Given the description of an element on the screen output the (x, y) to click on. 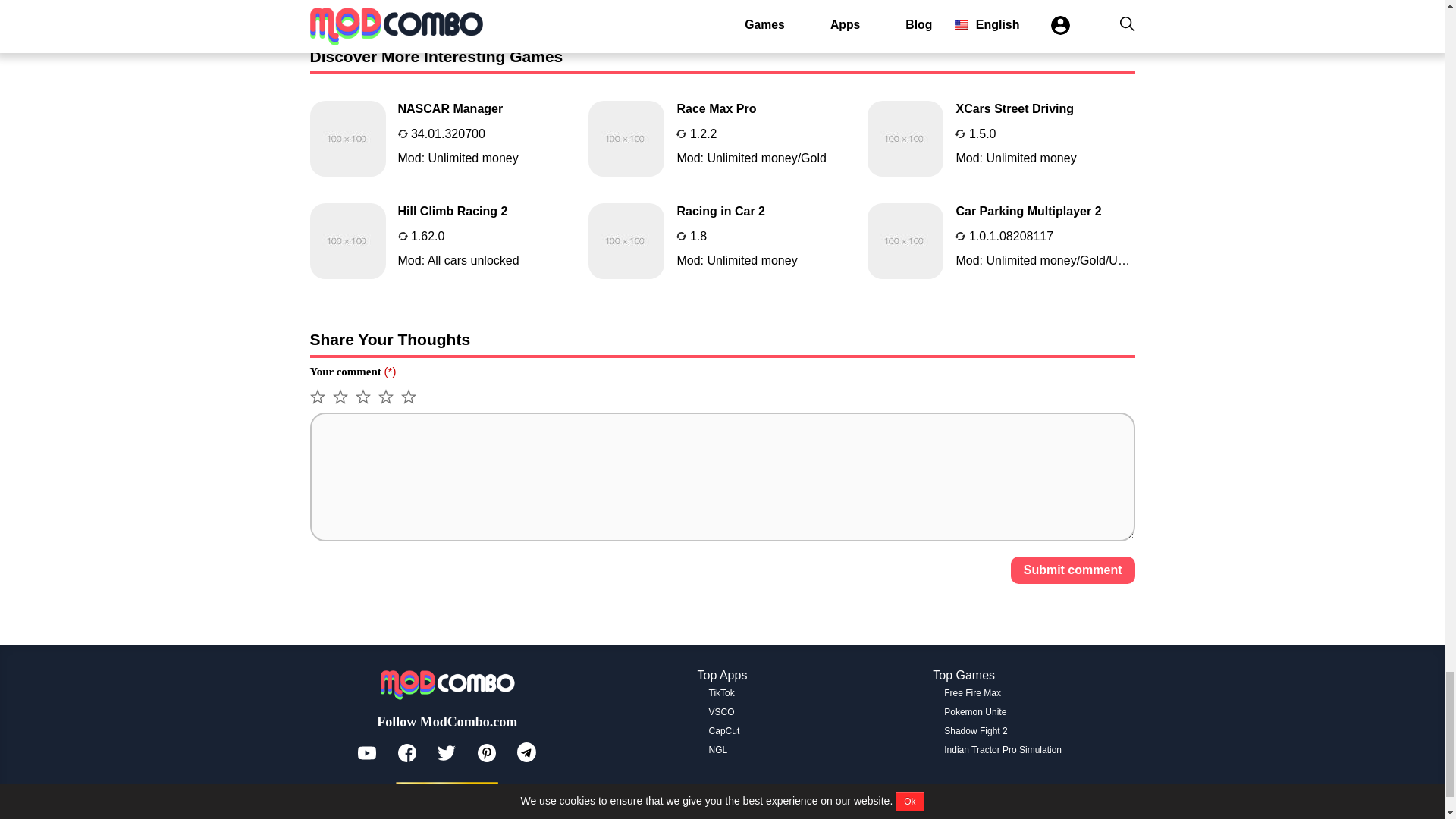
DMCA.com Protection Status (446, 792)
Shadow Fight 2 (975, 730)
Indian Tractor Pro Simulation (1002, 749)
Pokemon Unite (974, 711)
Racing in Car 2 (722, 241)
Free Fire Max (972, 692)
NASCAR Manager (442, 138)
Hill Climb Racing 2 (442, 241)
NGL (718, 749)
XCars Street Driving (1000, 138)
